Given the description of an element on the screen output the (x, y) to click on. 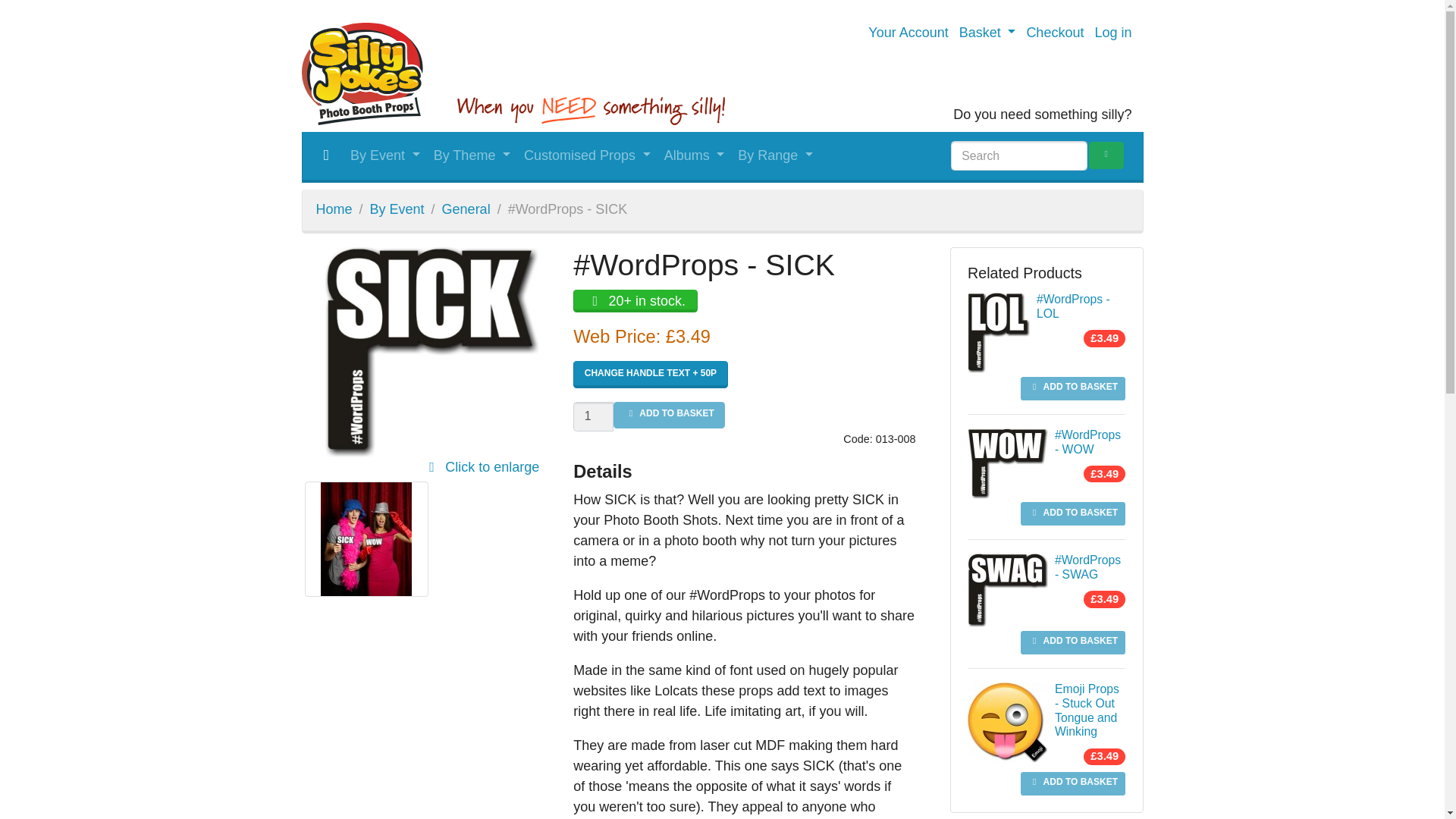
Log in (1112, 32)
By Event (384, 155)
By Theme (471, 155)
Checkout (1054, 32)
1 (592, 416)
Your Account (907, 32)
Albums (695, 155)
Customised Props (587, 155)
Basket (987, 32)
SillyJokes Home Page (333, 209)
